Given the description of an element on the screen output the (x, y) to click on. 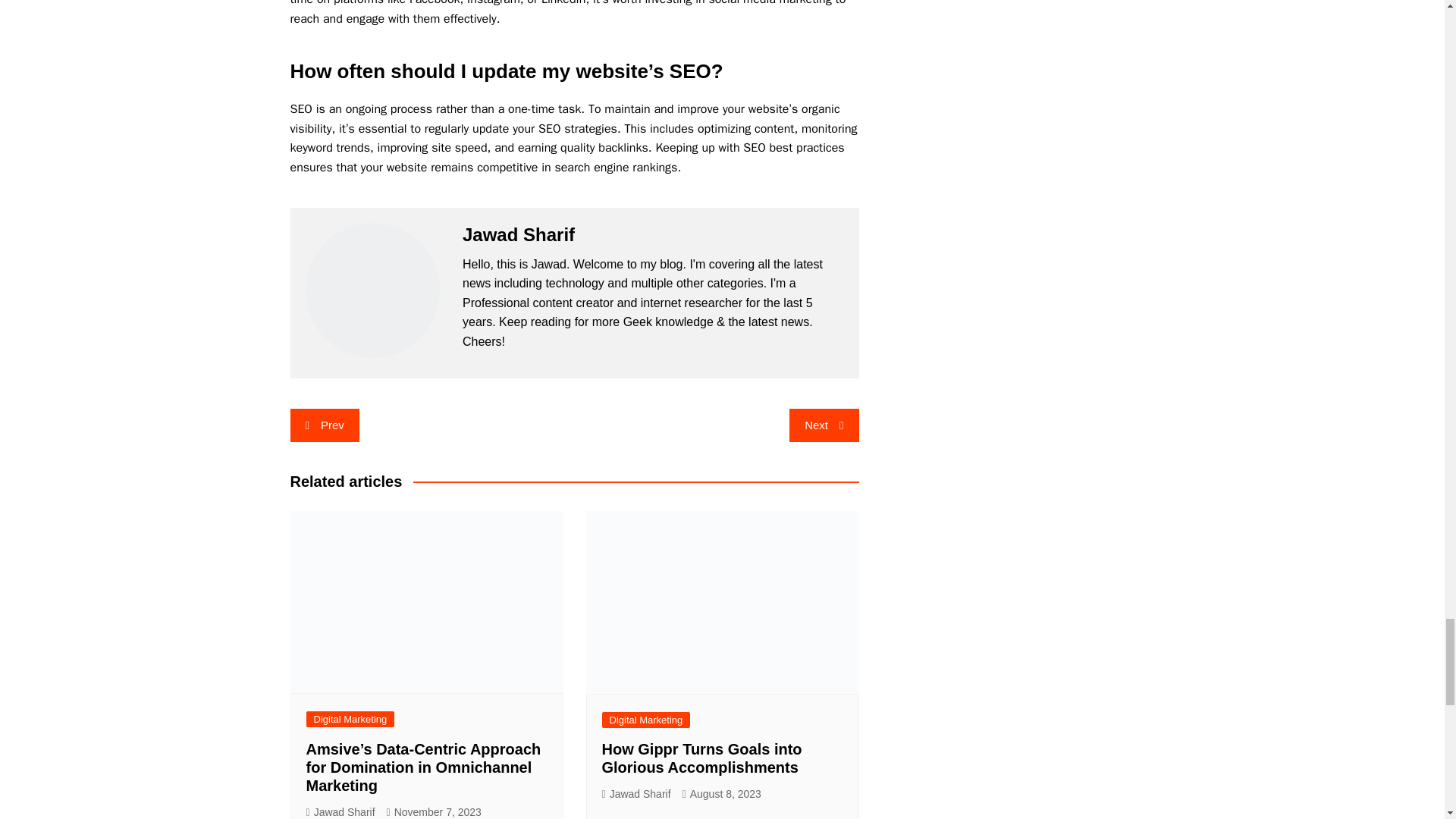
Jawad Sharif (340, 811)
Next (824, 425)
Digital Marketing (349, 719)
Digital Marketing (646, 719)
Prev (323, 425)
November 7, 2023 (434, 811)
